Given the description of an element on the screen output the (x, y) to click on. 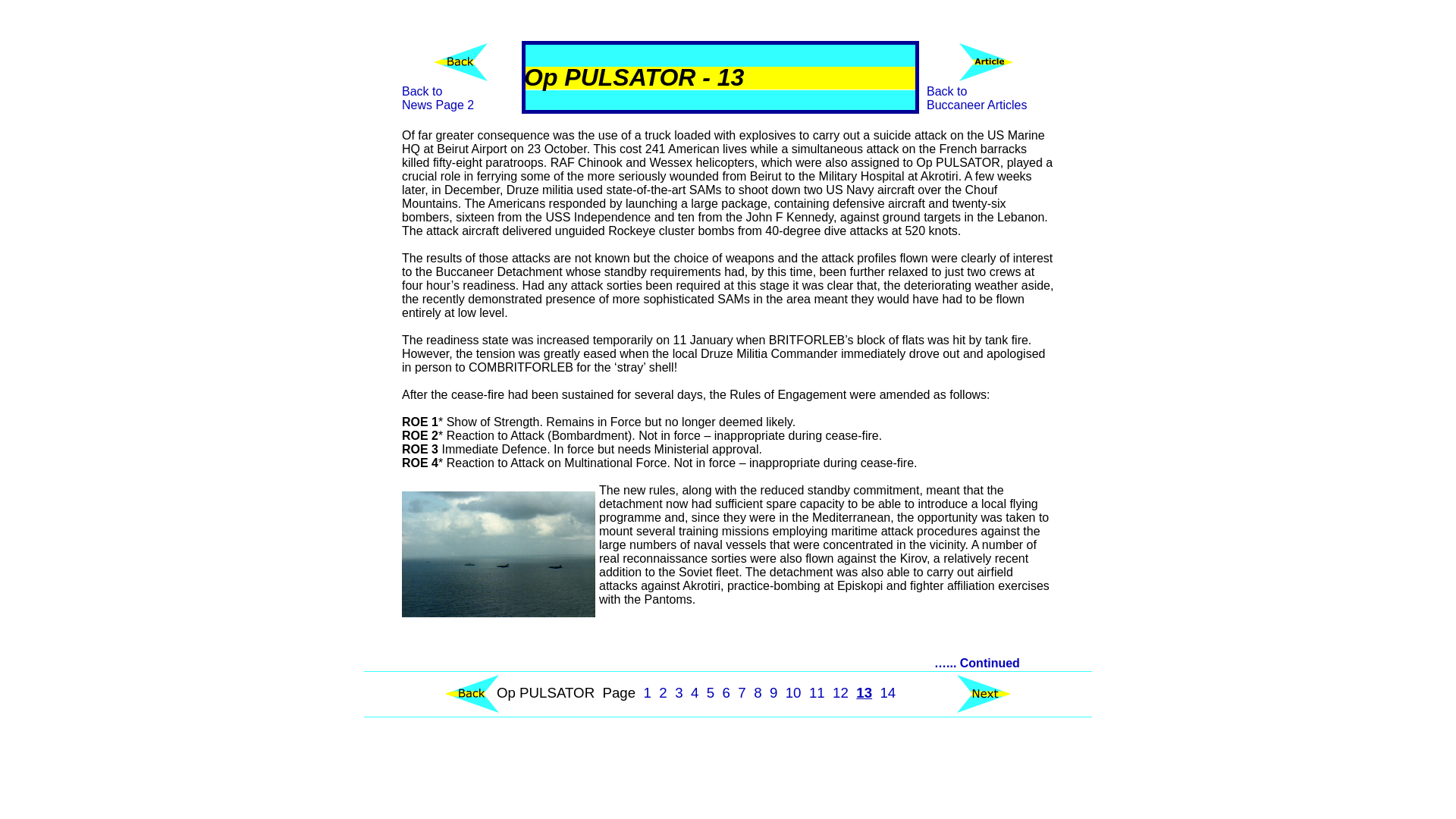
11 (817, 692)
12 (840, 692)
14 (887, 692)
13 (864, 692)
10 (437, 98)
